Given the description of an element on the screen output the (x, y) to click on. 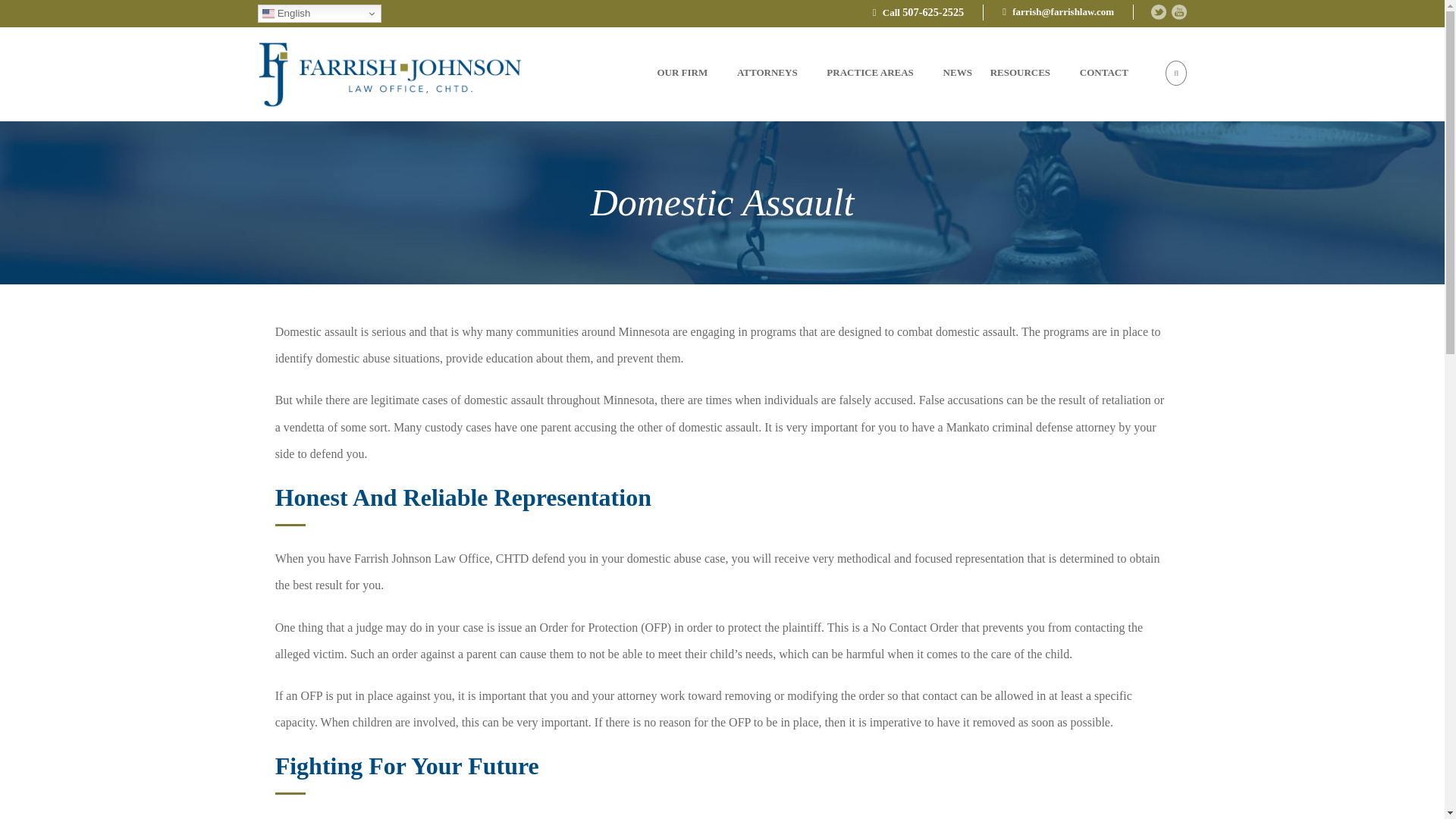
English (319, 13)
